Given the description of an element on the screen output the (x, y) to click on. 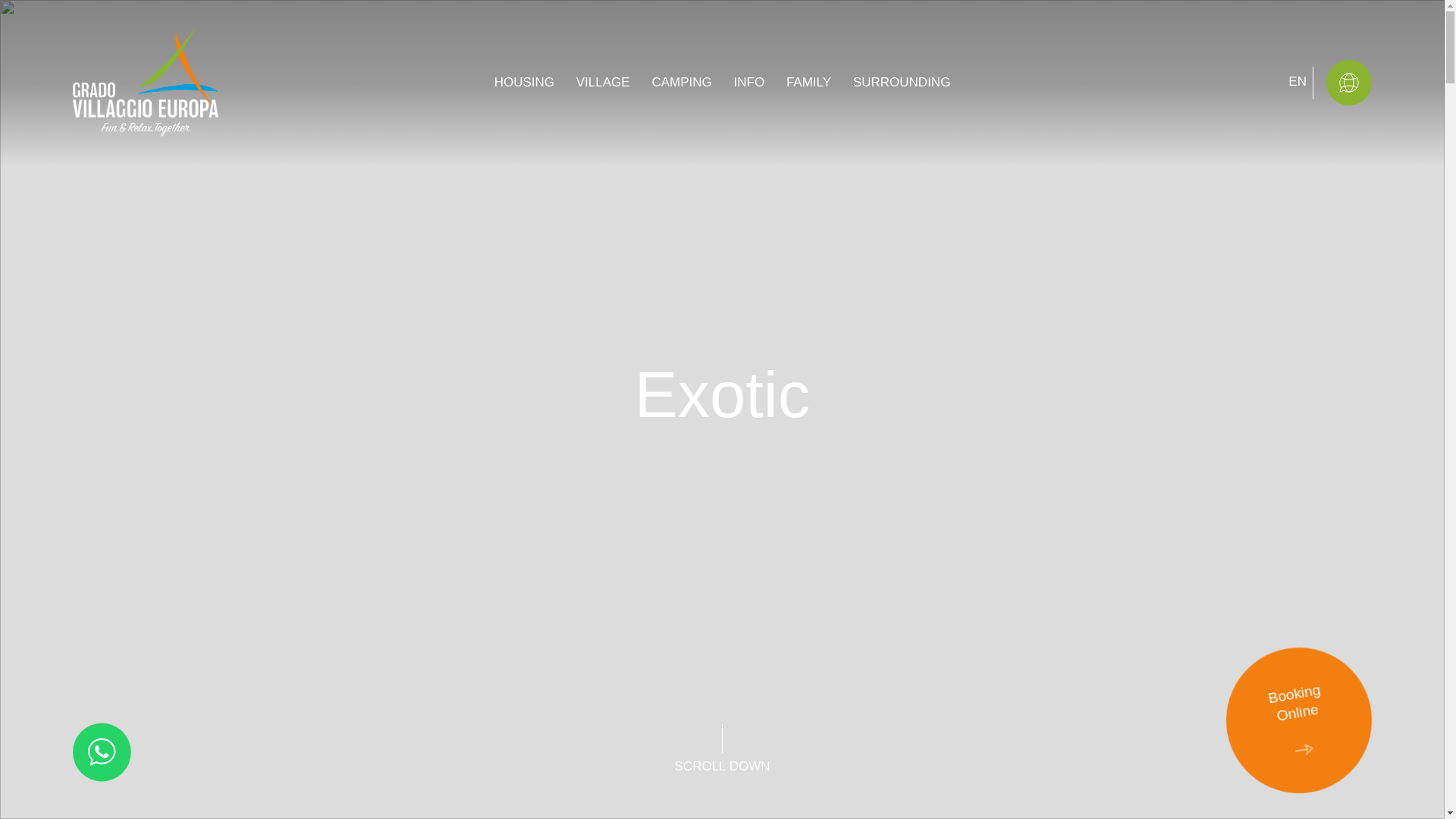
SCROLL DOWN (721, 749)
SURROUNDING (901, 82)
INFO (749, 82)
CAMPING (680, 82)
FAMILY (808, 82)
VILLAGE (603, 82)
HOUSING (1286, 709)
SCROLL DOWN (524, 82)
